Given the description of an element on the screen output the (x, y) to click on. 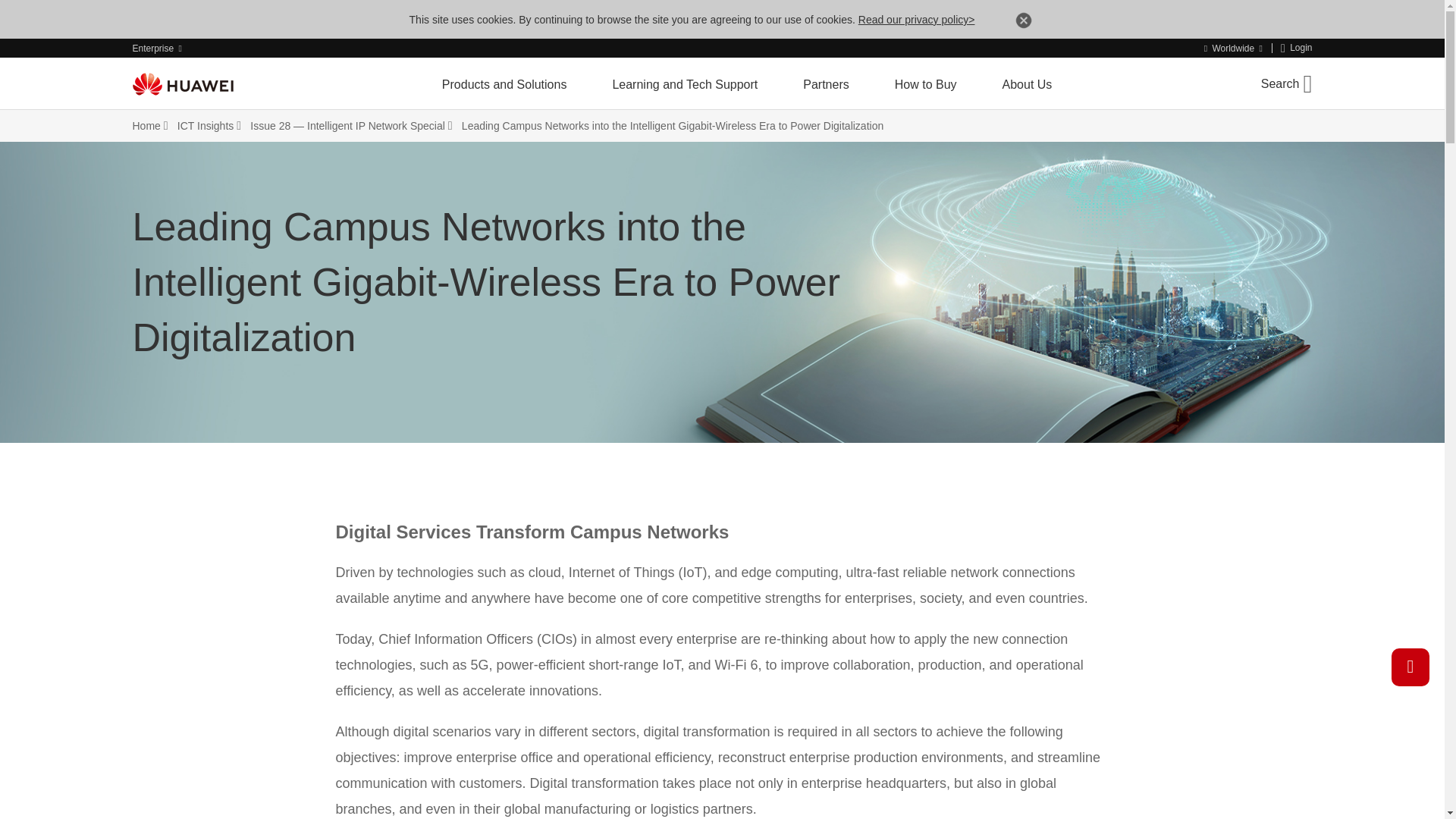
Huawei (182, 83)
Login (1296, 48)
Close (1023, 22)
